Given the description of an element on the screen output the (x, y) to click on. 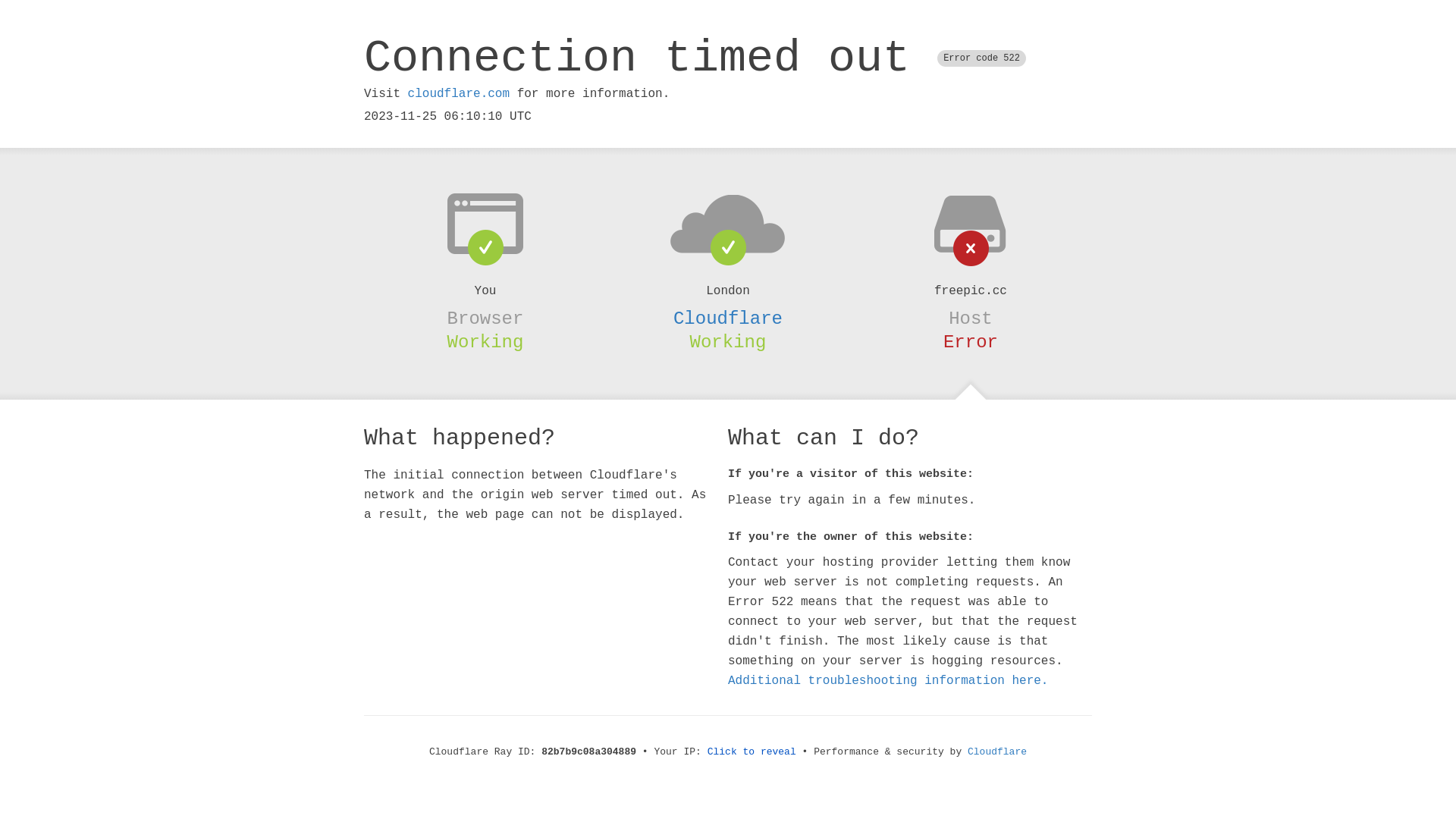
Cloudflare Element type: text (727, 318)
Click to reveal Element type: text (751, 751)
Additional troubleshooting information here. Element type: text (888, 680)
cloudflare.com Element type: text (458, 93)
Cloudflare Element type: text (996, 751)
